Given the description of an element on the screen output the (x, y) to click on. 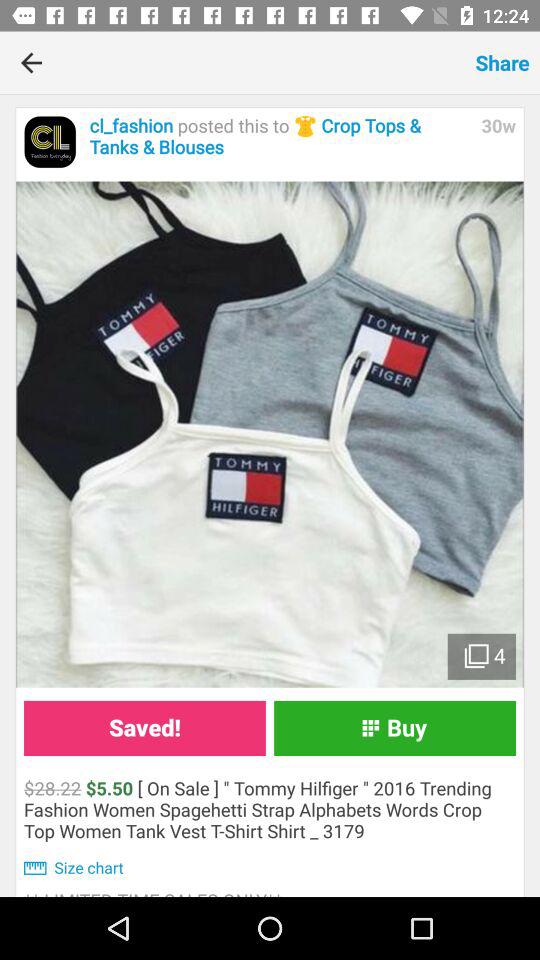
open profile (50, 141)
